Given the description of an element on the screen output the (x, y) to click on. 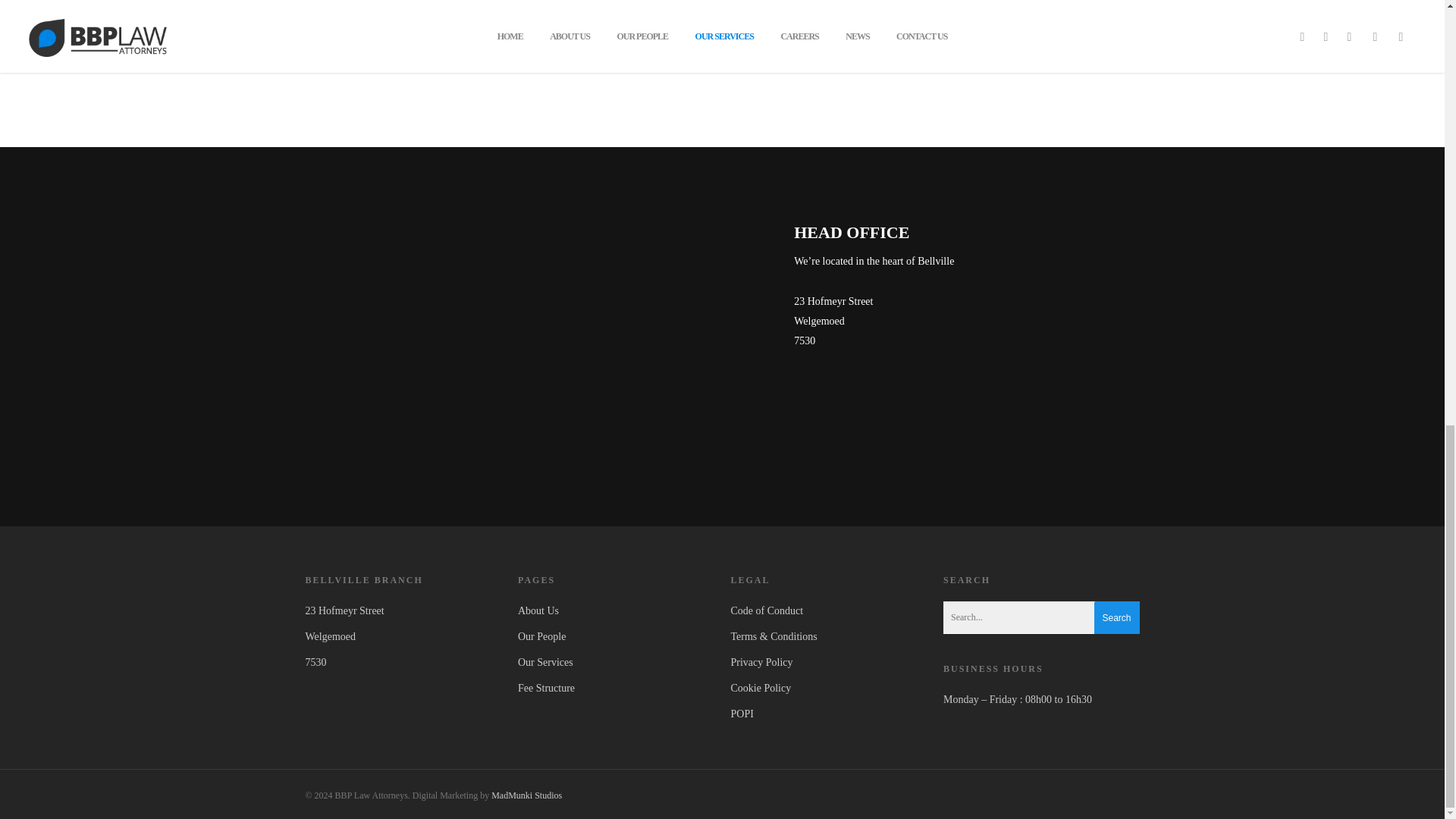
Search (1116, 618)
Search for: (1041, 617)
Search (1116, 618)
